Given the description of an element on the screen output the (x, y) to click on. 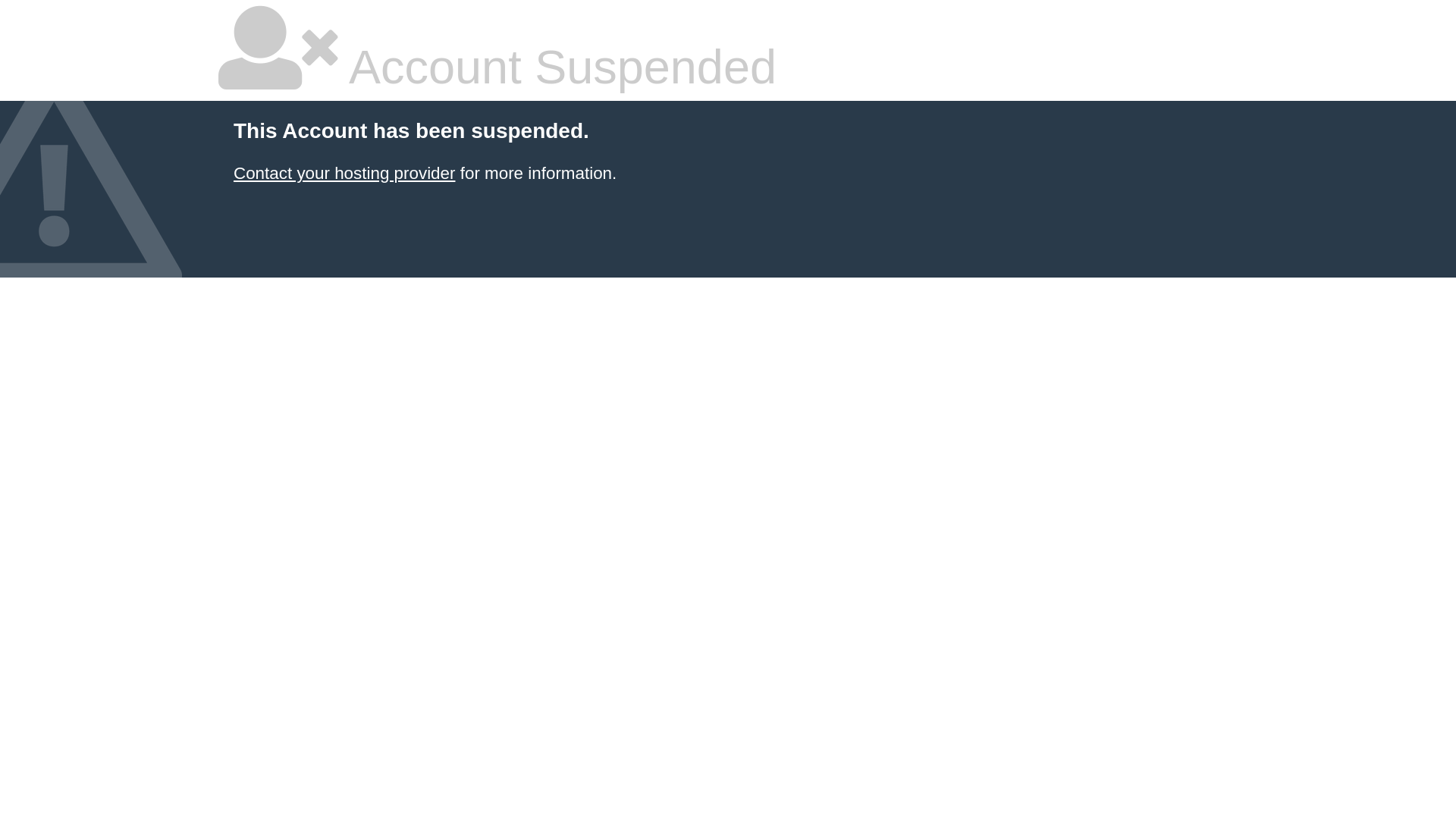
Contact your hosting provider Element type: text (344, 172)
